Given the description of an element on the screen output the (x, y) to click on. 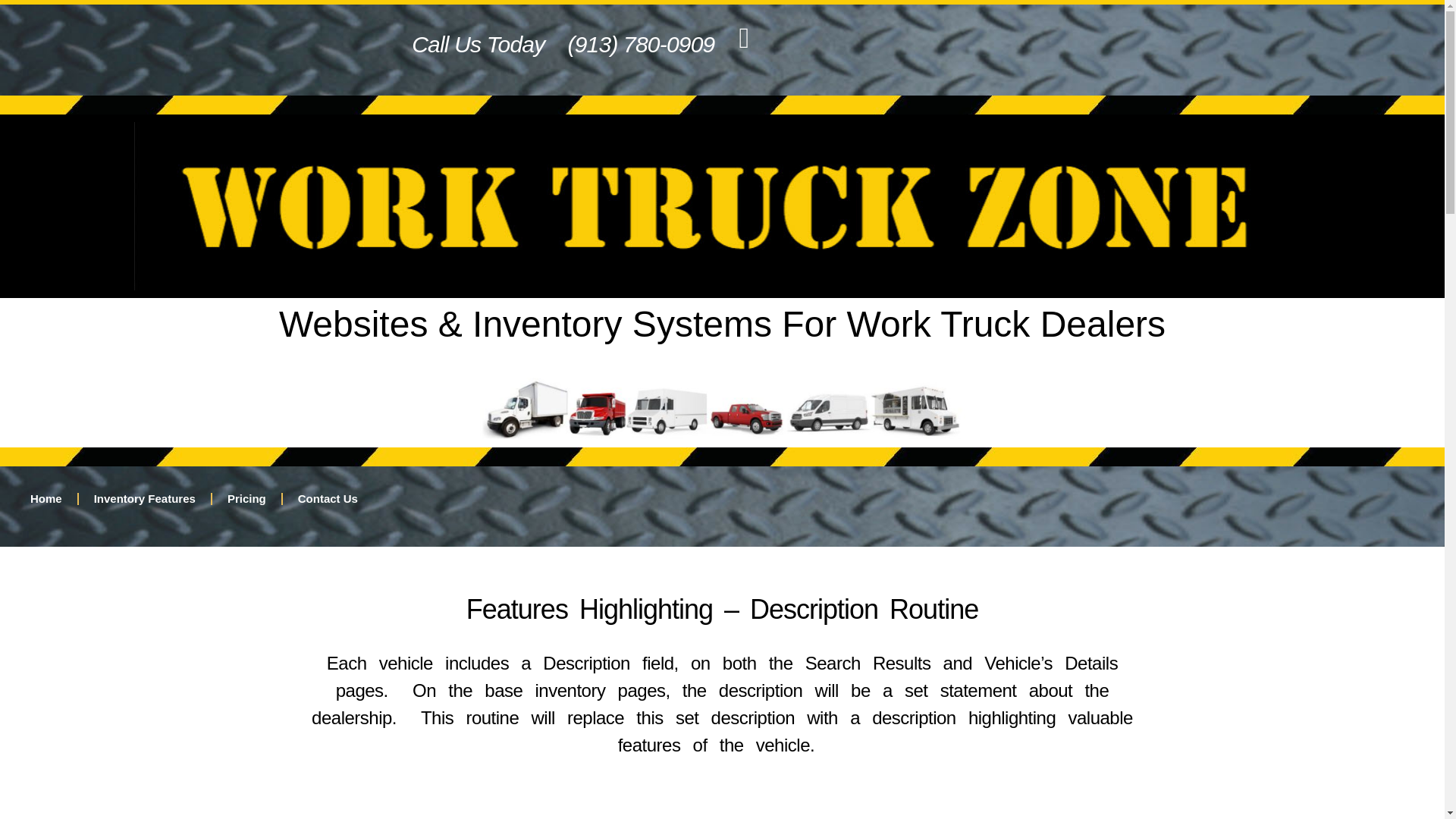
Inventory Features (144, 498)
Home (45, 498)
Contact Us (327, 498)
Pricing (246, 498)
